Given the description of an element on the screen output the (x, y) to click on. 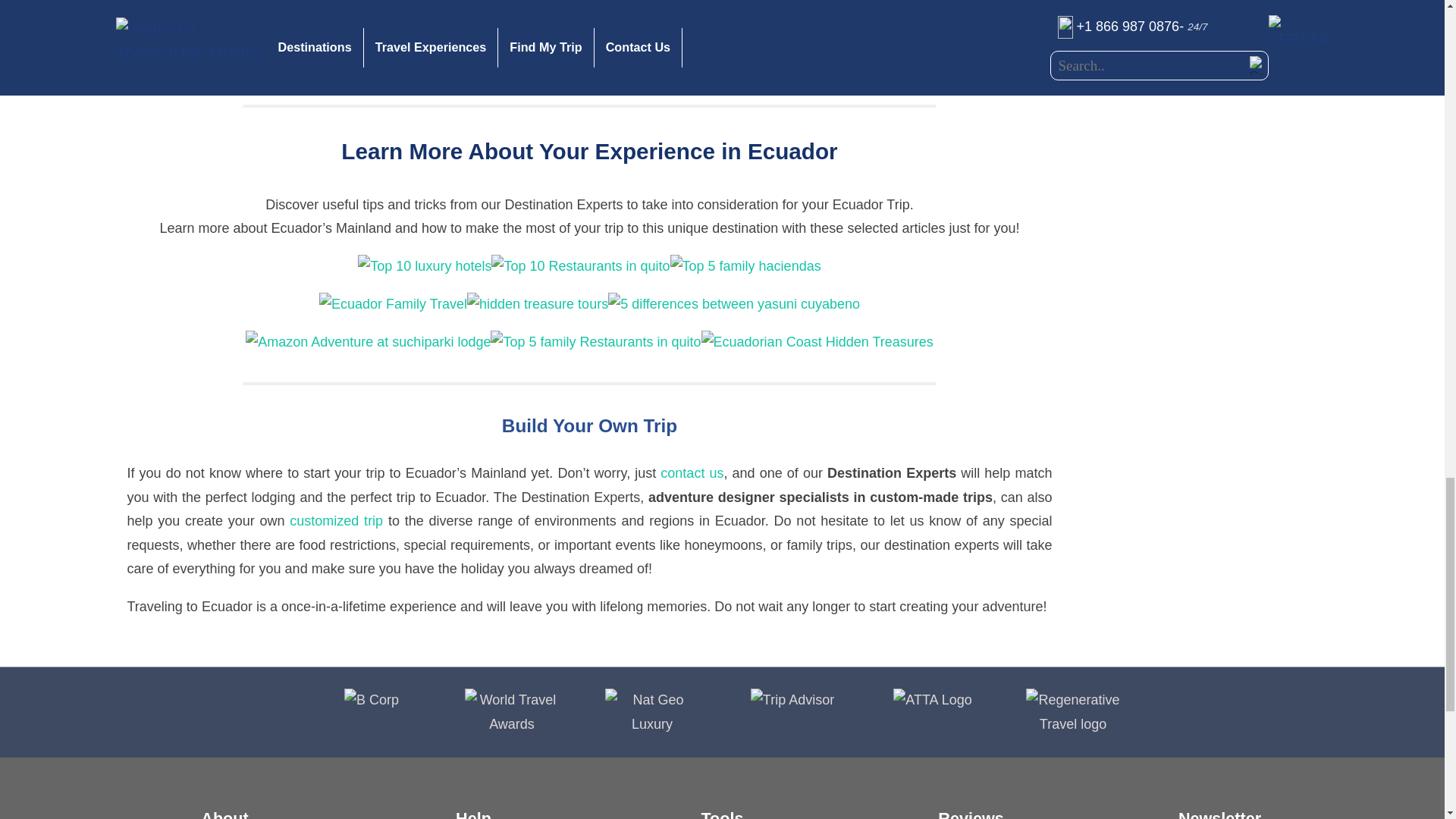
Top 5 Family Haciendas around Quito for a Weekend Getaway (745, 265)
Top 10 Restaurants in Quito (580, 265)
Galapagos Islands Hotels (903, 64)
Hidden Treasure Tours (537, 304)
TOP 15 LUXURY HOTELS IN ECUADOR (425, 265)
Ecuador Family Travel: Top 5 Destinations to Visit with Kids (392, 304)
